Given the description of an element on the screen output the (x, y) to click on. 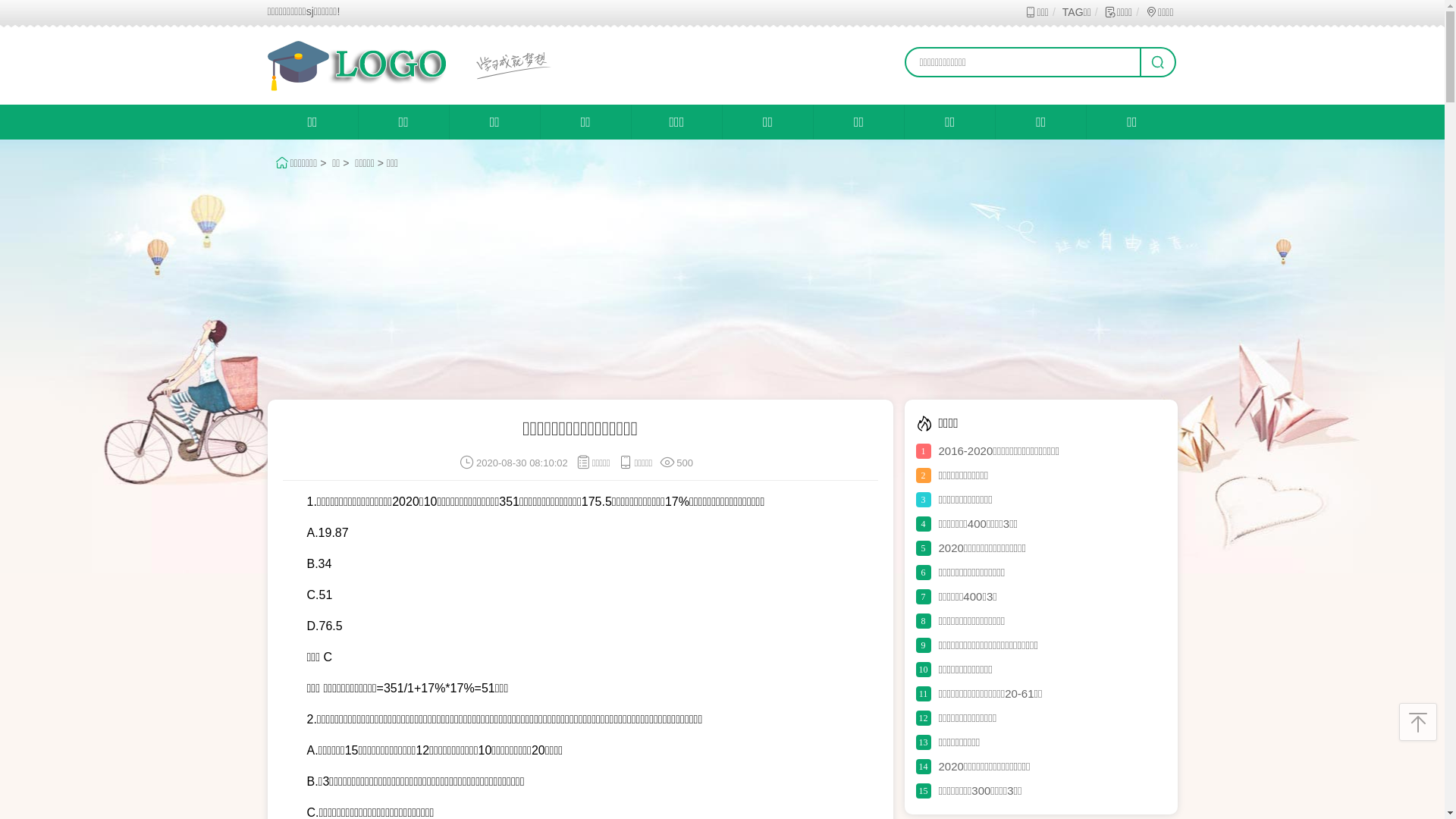
Advertisement Element type: hover (721, 285)
